Given the description of an element on the screen output the (x, y) to click on. 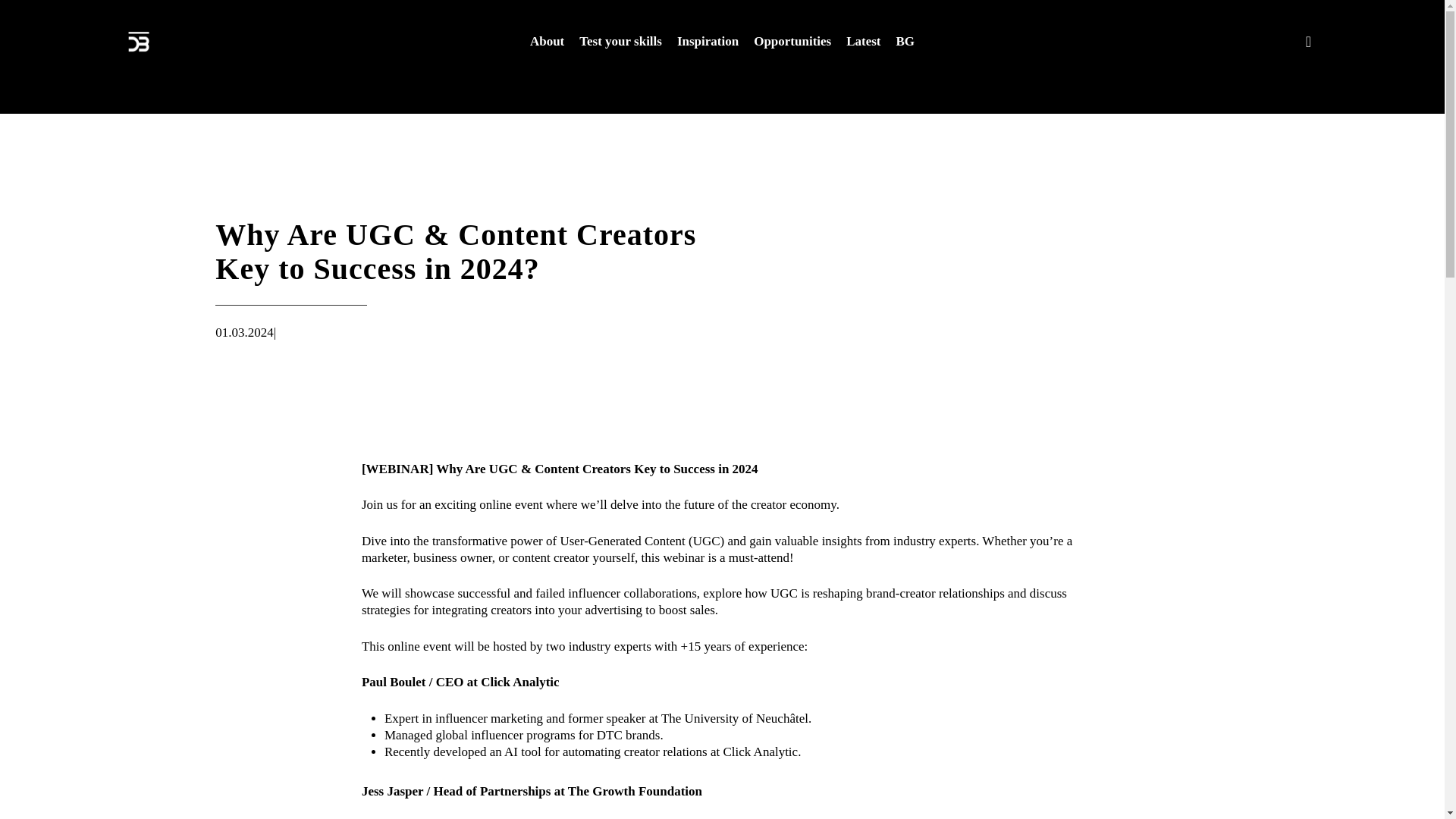
search (1308, 41)
About (546, 41)
Opportunities (792, 41)
Latest (862, 41)
Inspiration (707, 41)
BG (905, 41)
Test your skills (620, 41)
